Given the description of an element on the screen output the (x, y) to click on. 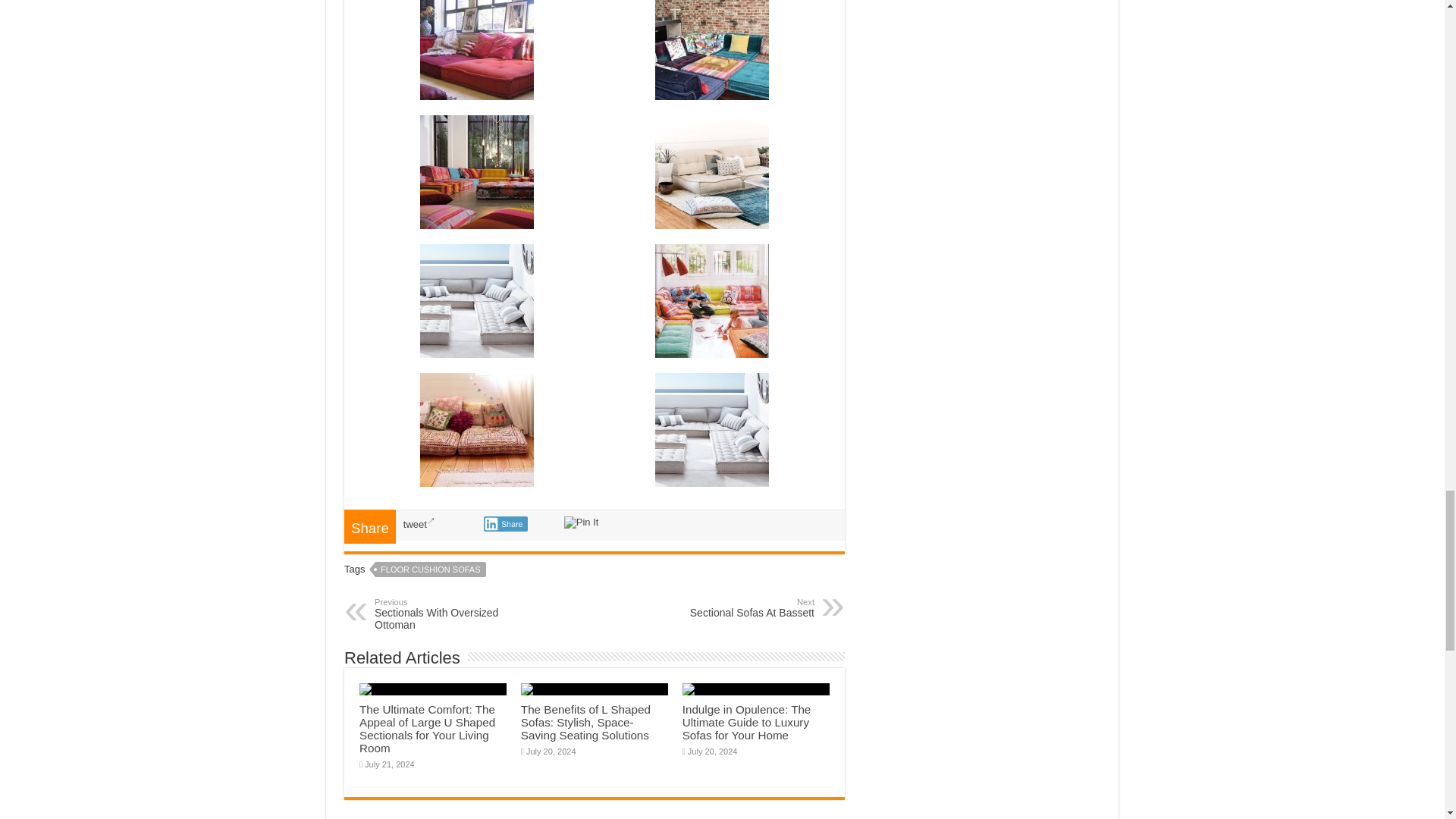
Pin It (581, 522)
